Given the description of an element on the screen output the (x, y) to click on. 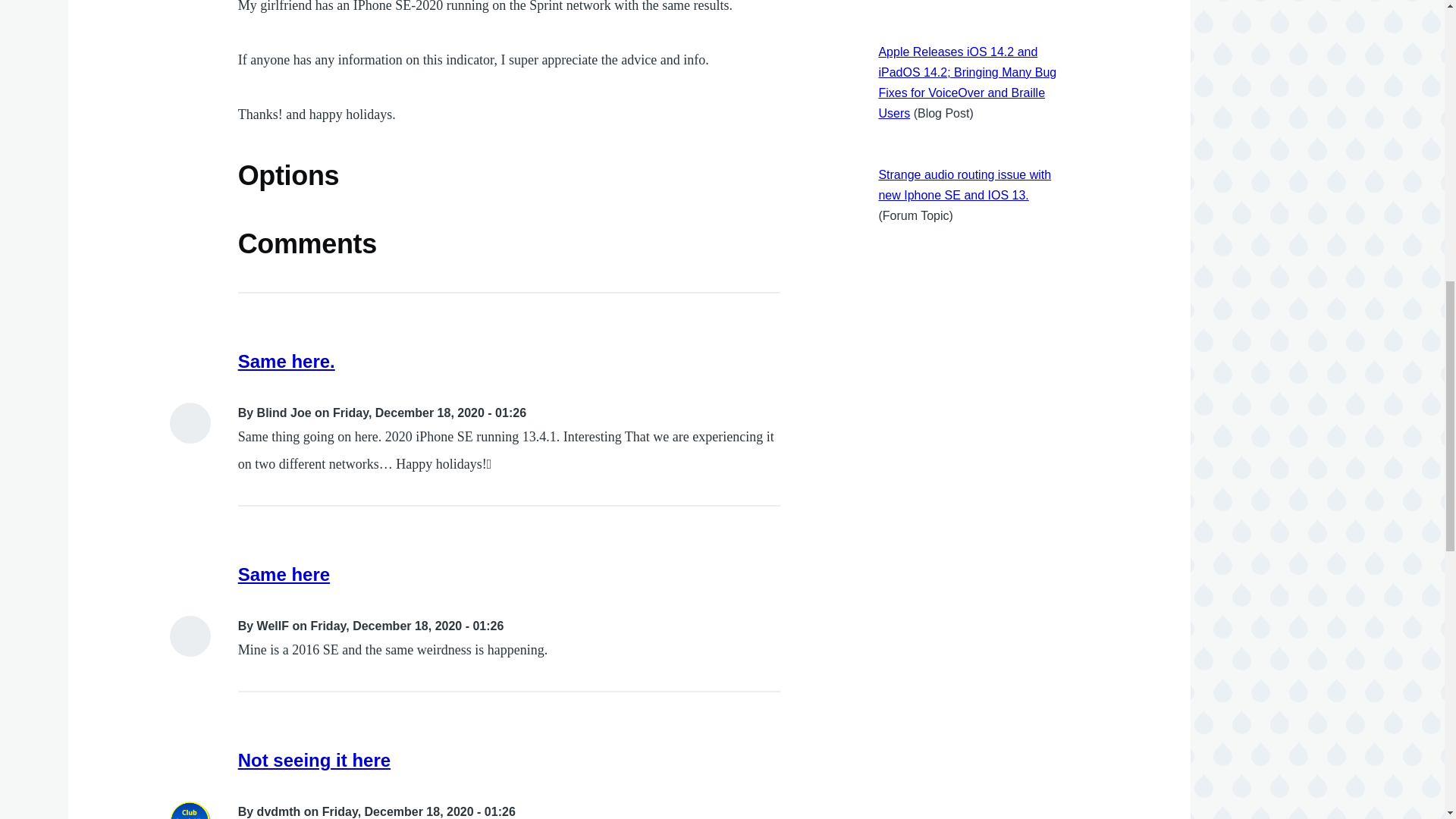
Not seeing it here (314, 760)
Same here (284, 574)
Strange audio routing issue with new Iphone SE and IOS 13. (964, 184)
Same here. (286, 361)
